Given the description of an element on the screen output the (x, y) to click on. 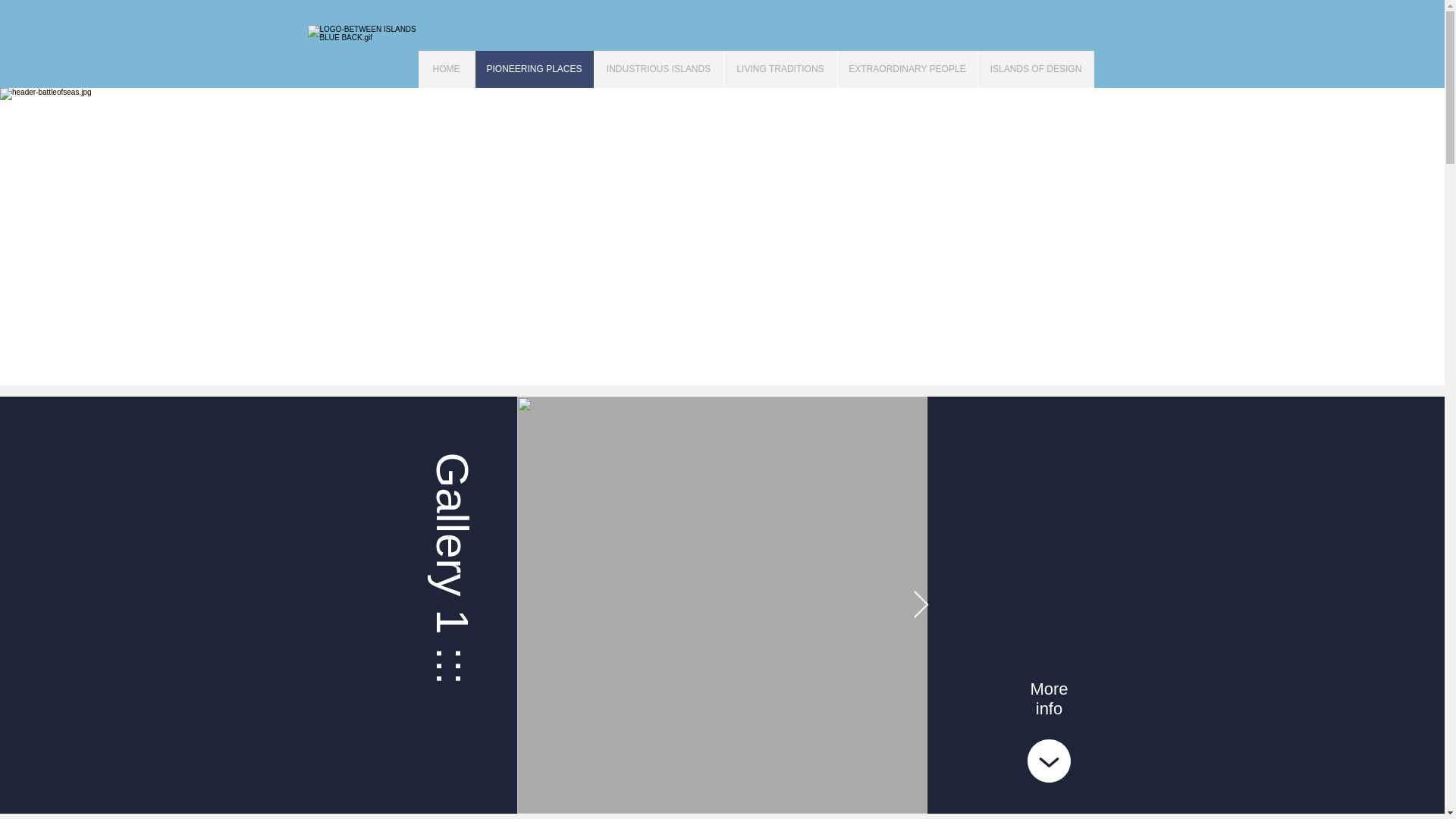
INDUSTRIOUS ISLANDS (657, 68)
EXTRAORDINARY PEOPLE (906, 68)
ISLANDS OF DESIGN (1034, 68)
LIVING TRADITIONS (780, 68)
HOME (446, 68)
PIONEERING PLACES (534, 68)
